Given the description of an element on the screen output the (x, y) to click on. 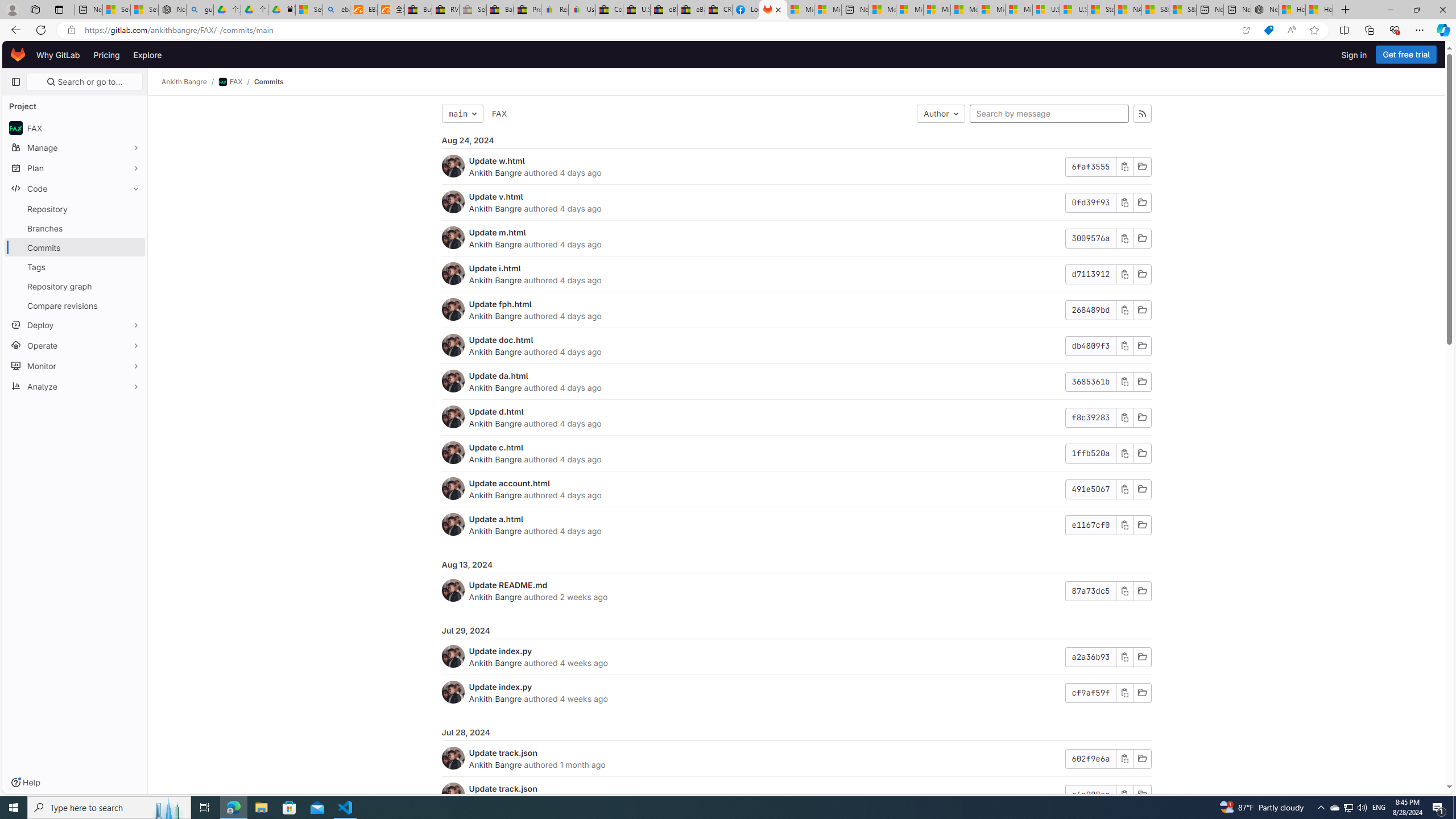
Update d.htmlAnkith Bangre authored 4 days agof8c39283 (796, 417)
Ankith Bangre (495, 764)
Deploy (74, 324)
FAX/ (236, 81)
Update README.mdAnkith Bangre authored 2 weeks ago87a73dc5 (796, 590)
Press Room - eBay Inc. (527, 9)
Update i.htmlAnkith Bangre authored 4 days agod7113912 (796, 274)
Help (25, 782)
Code (74, 188)
Update c.html (496, 447)
Ankith Bangre's avatar (452, 793)
